Given the description of an element on the screen output the (x, y) to click on. 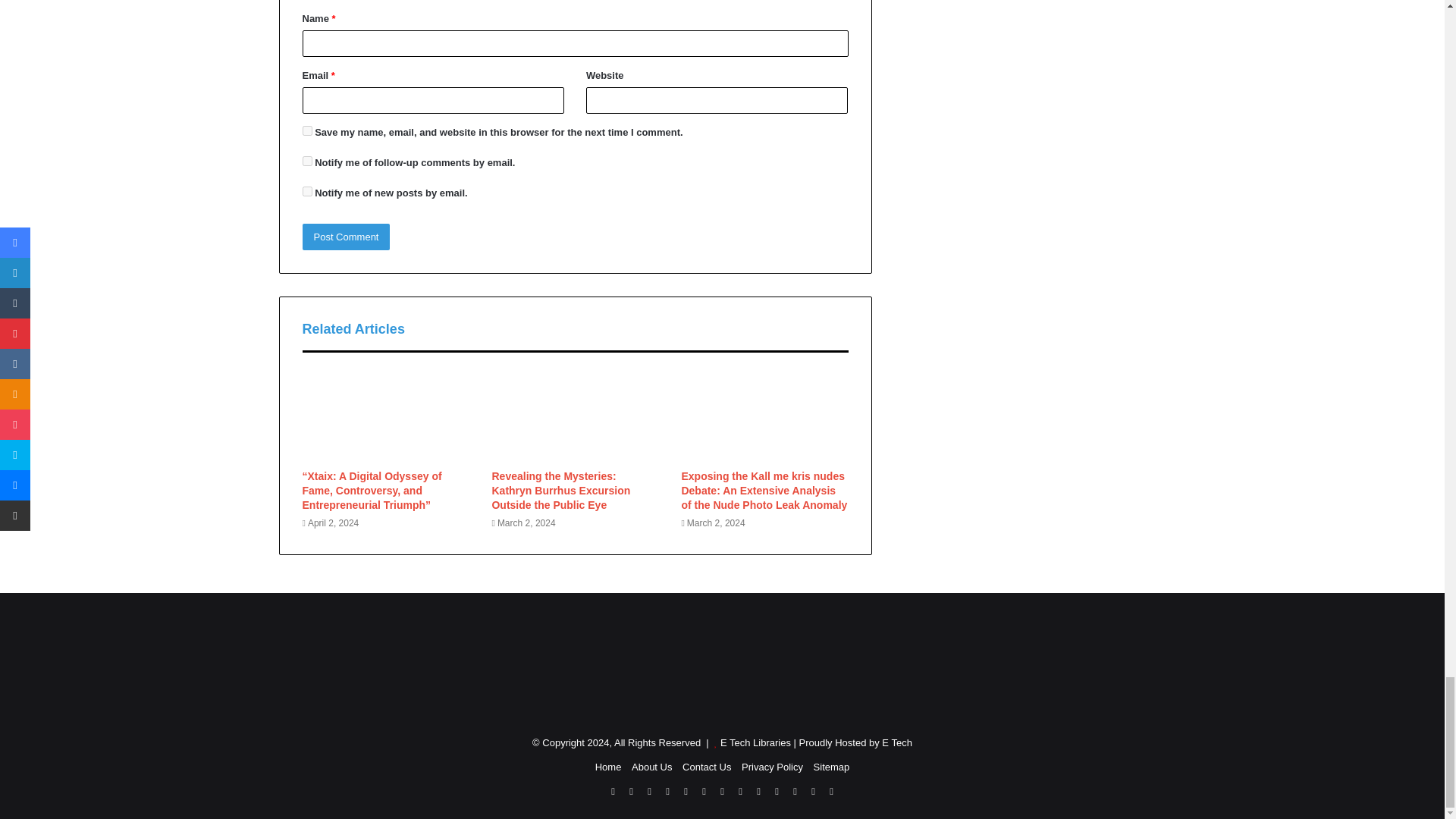
yes (306, 130)
Post Comment (345, 236)
subscribe (306, 191)
subscribe (306, 161)
